Given the description of an element on the screen output the (x, y) to click on. 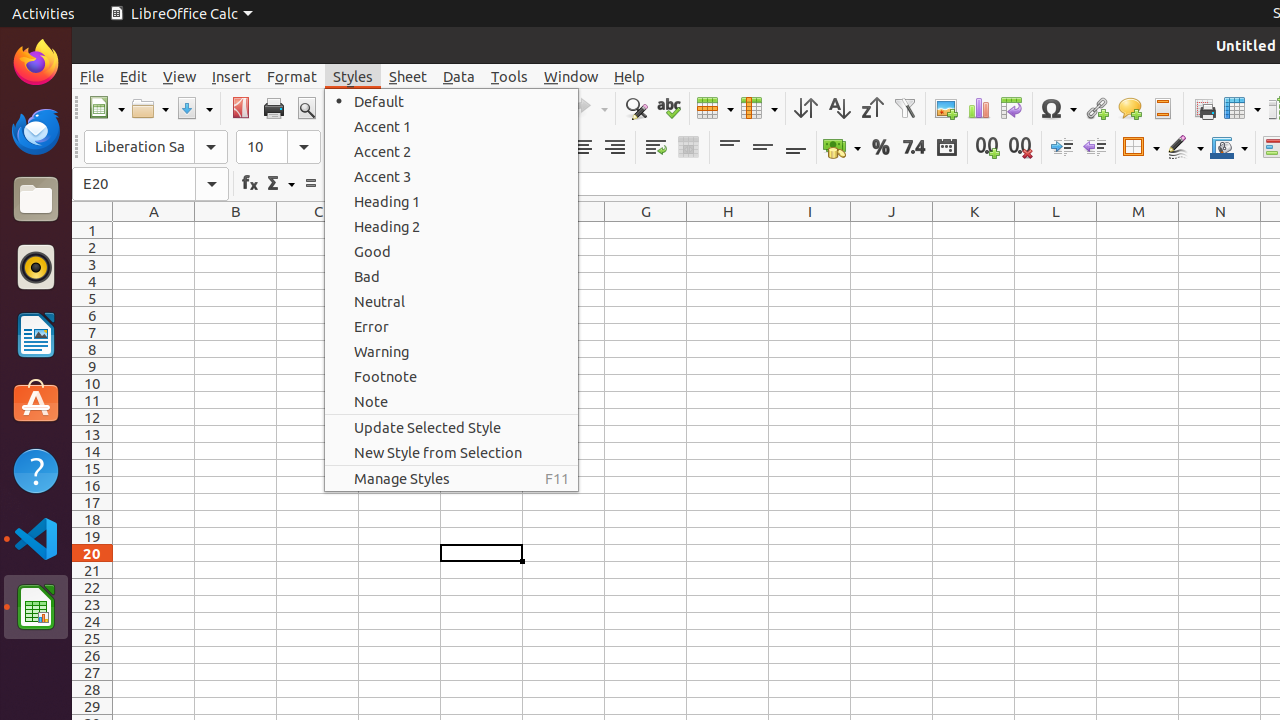
I1 Element type: table-cell (810, 230)
Align Bottom Element type: push-button (795, 147)
H1 Element type: table-cell (728, 230)
View Element type: menu (179, 76)
G1 Element type: table-cell (646, 230)
